Given the description of an element on the screen output the (x, y) to click on. 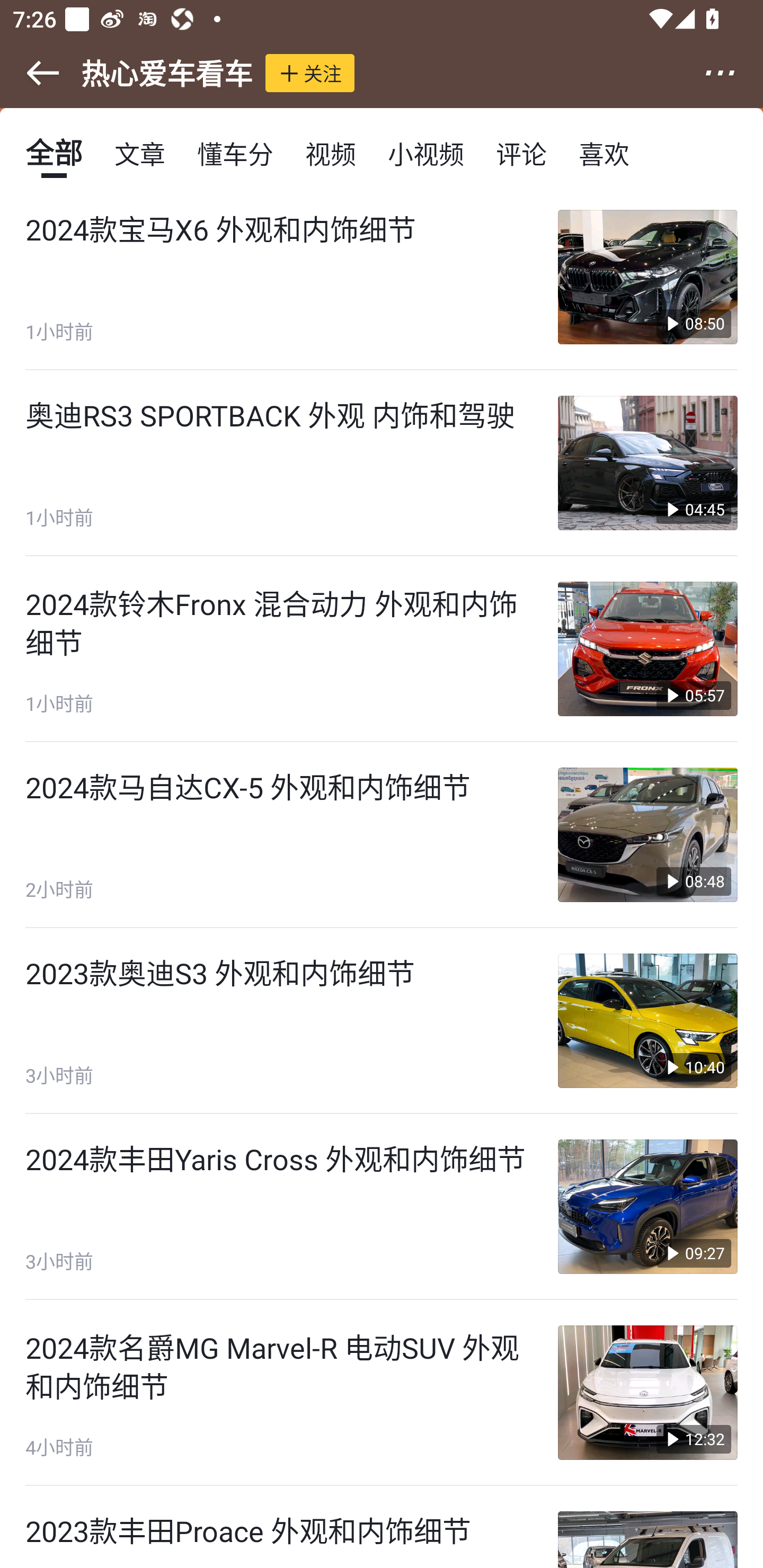
 (30, 72)
 (732, 72)
 关注 (309, 72)
全部 (53, 152)
文章 (139, 152)
懂车分 (234, 152)
视频 (330, 152)
小视频 (425, 152)
评论 (521, 152)
喜欢 (603, 152)
2024款宝马X6 外观和内饰细节 1小时前  08:50 (381, 277)
奥迪RS3 SPORTBACK 外观 内饰和驾驶 1小时前  04:45 (381, 463)
2024款铃木Fronx 混合动力 外观和内饰细节 1小时前  05:57 (381, 648)
2024款马自达CX-5 外观和内饰细节 2小时前  08:48 (381, 834)
2023款奥迪S3 外观和内饰细节 3小时前  10:40 (381, 1020)
2024款丰田Yaris Cross 外观和内饰细节 3小时前  09:27 (381, 1206)
2024款名爵MG Marvel-R 电动SUV 外观和内饰细节 4小时前  12:32 (381, 1392)
2023款丰田Proace 外观和内饰细节 (381, 1527)
